Given the description of an element on the screen output the (x, y) to click on. 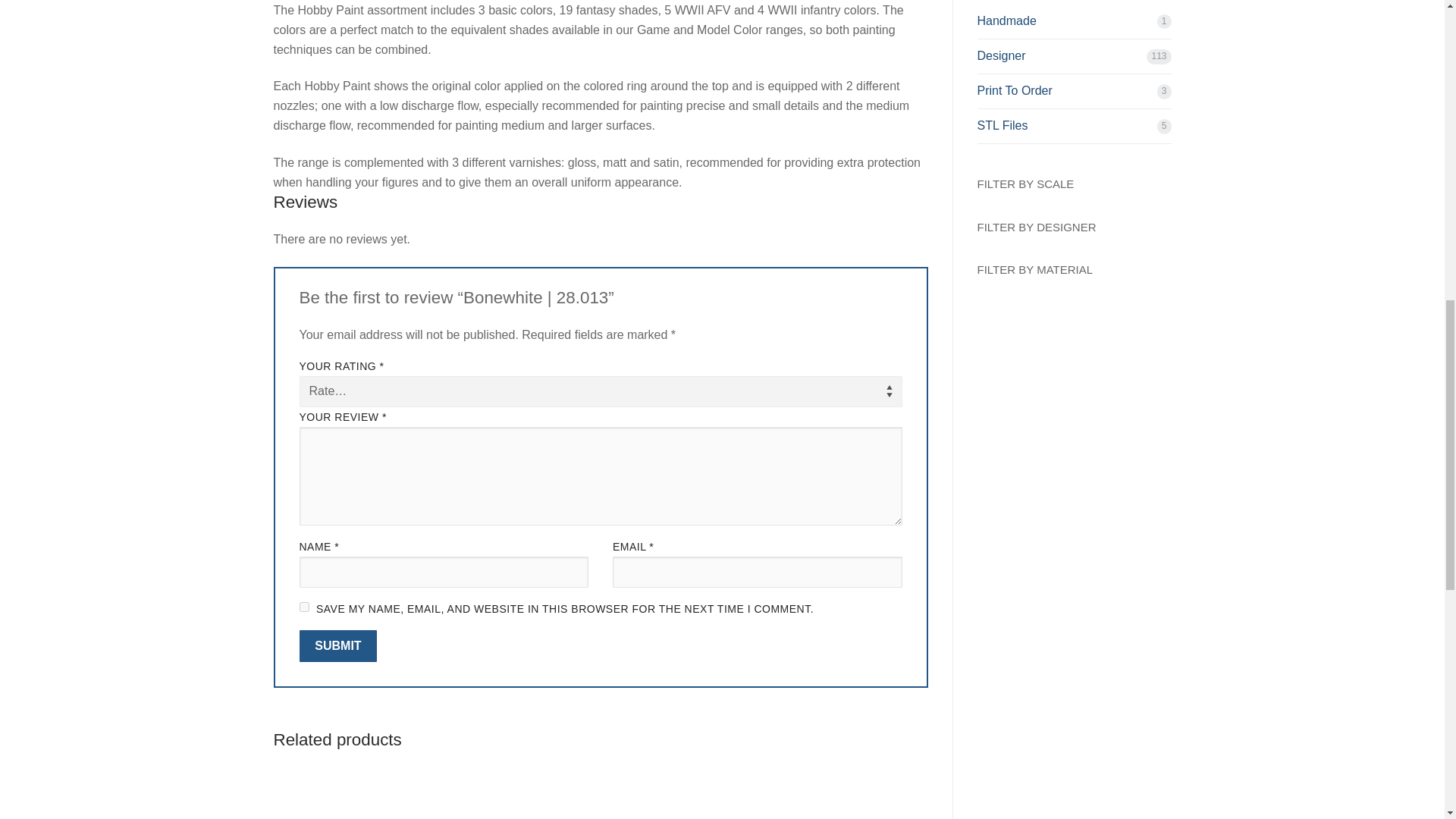
yes (303, 606)
Submit (337, 645)
